Given the description of an element on the screen output the (x, y) to click on. 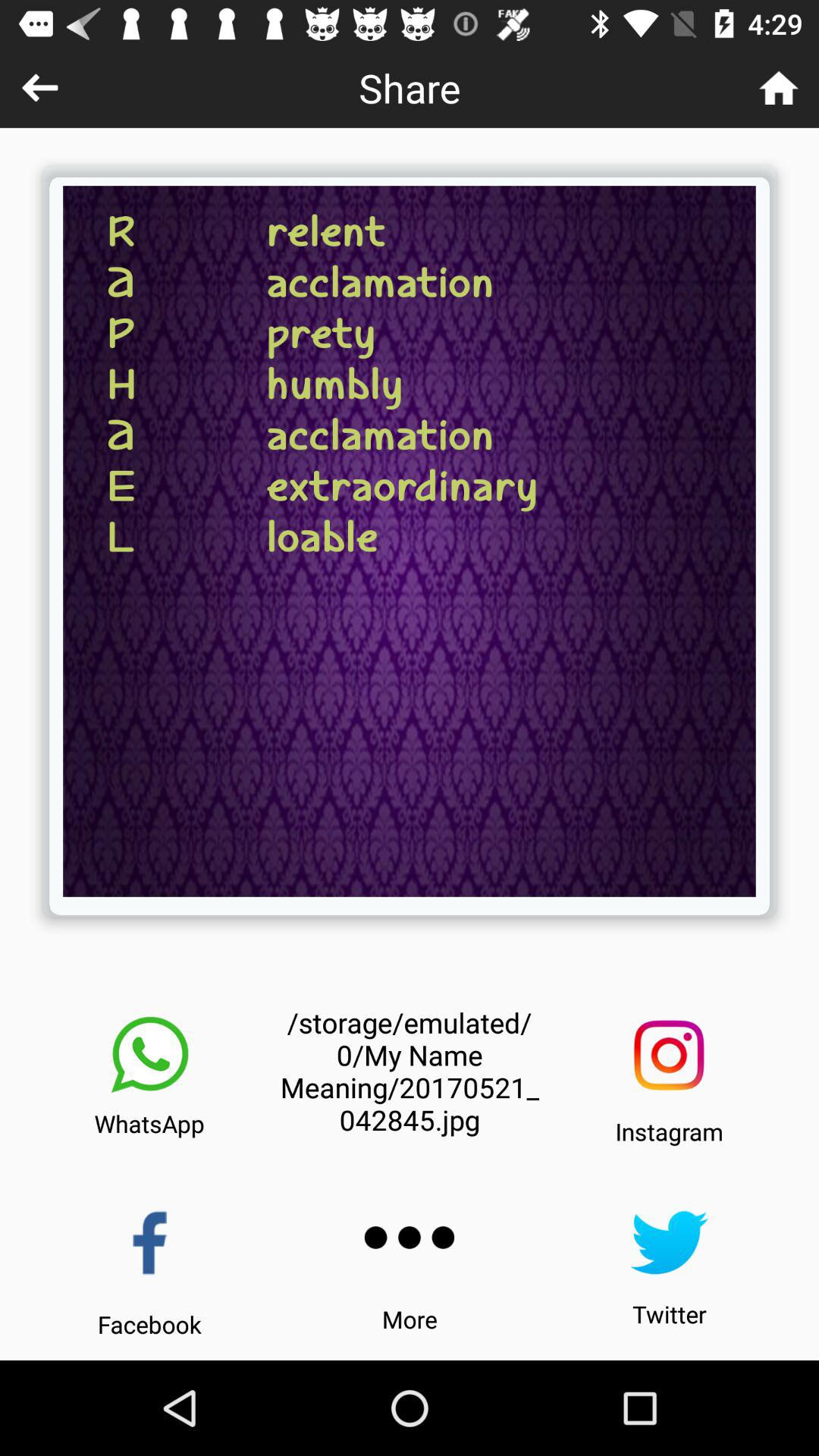
clickable home button (778, 87)
